Given the description of an element on the screen output the (x, y) to click on. 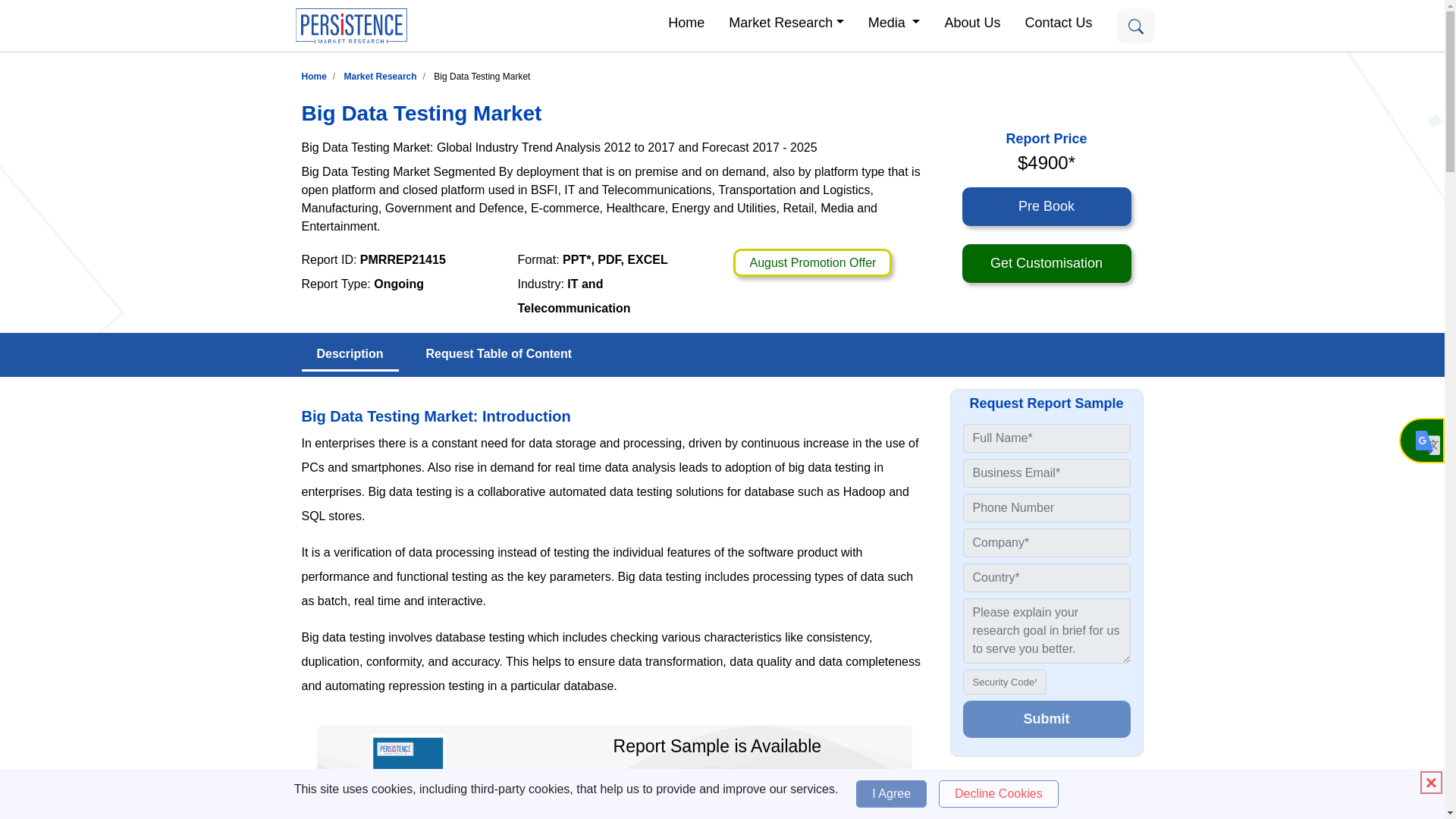
Contact Us (1057, 21)
Request Table of Content (499, 354)
Market Research (786, 21)
Contact Us (1057, 21)
Description (349, 355)
Pre Book (1045, 206)
Home (686, 21)
Search (1135, 25)
August Promotion Offer (812, 262)
Market Research (786, 21)
